Given the description of an element on the screen output the (x, y) to click on. 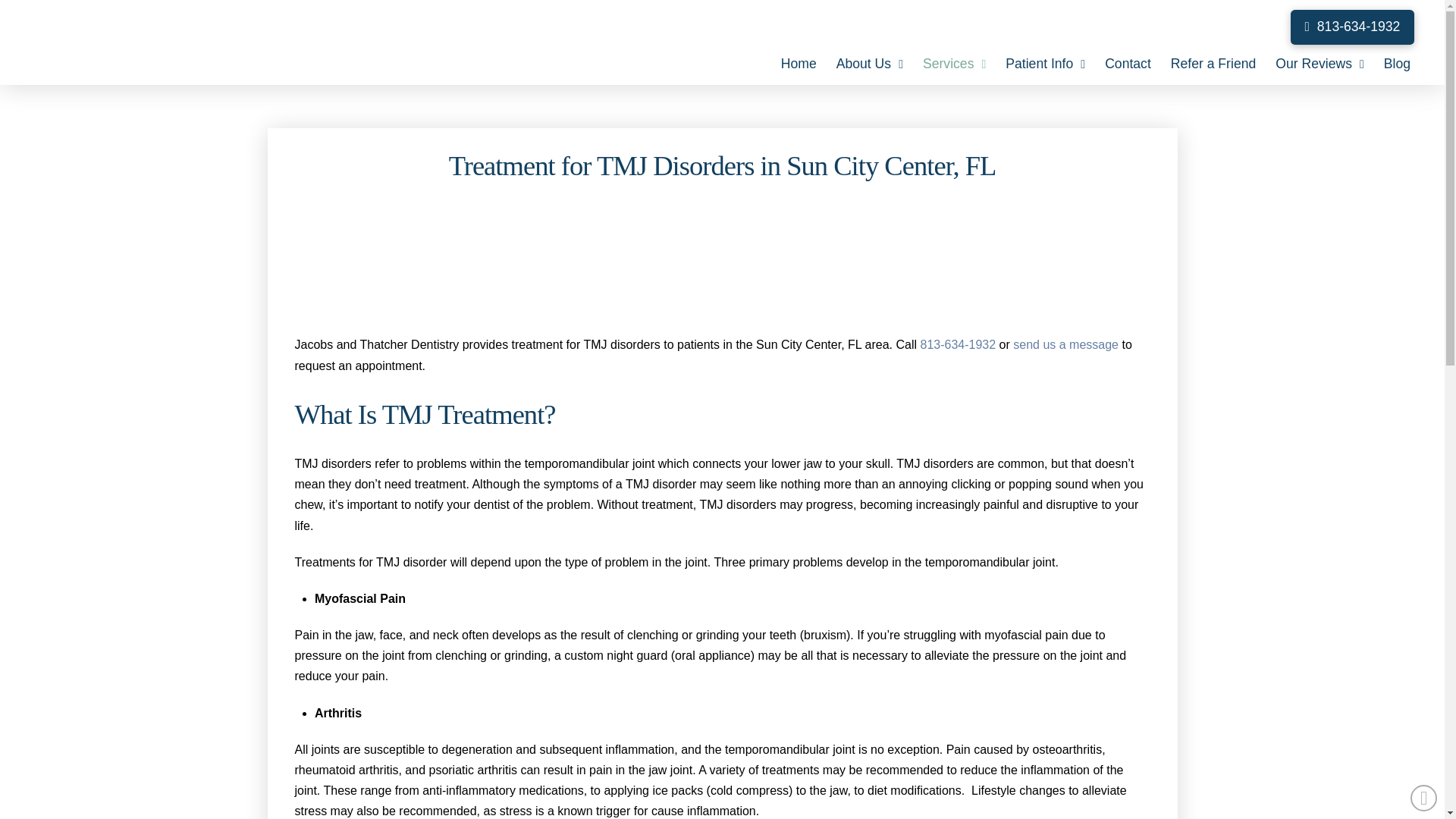
Services (953, 60)
Phone Number (957, 344)
Contact (1127, 60)
Refer a Friend (1212, 60)
Blog (1397, 60)
813-634-1932 (1351, 27)
Our Reviews (1319, 60)
Back to Top (1423, 797)
Home (799, 60)
Patient Info (1044, 60)
